Given the description of an element on the screen output the (x, y) to click on. 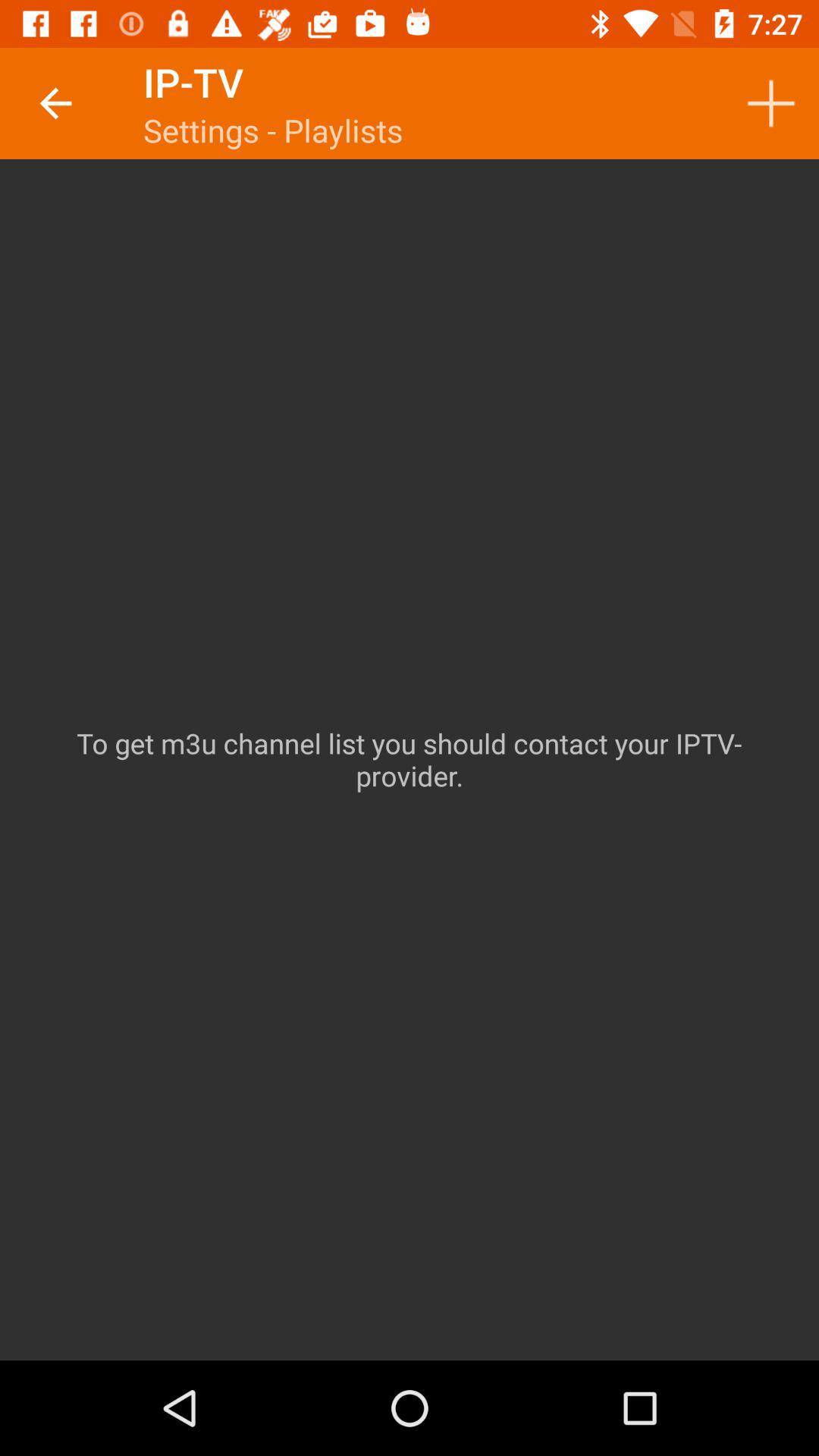
choose item next to settings - playlists icon (771, 103)
